Given the description of an element on the screen output the (x, y) to click on. 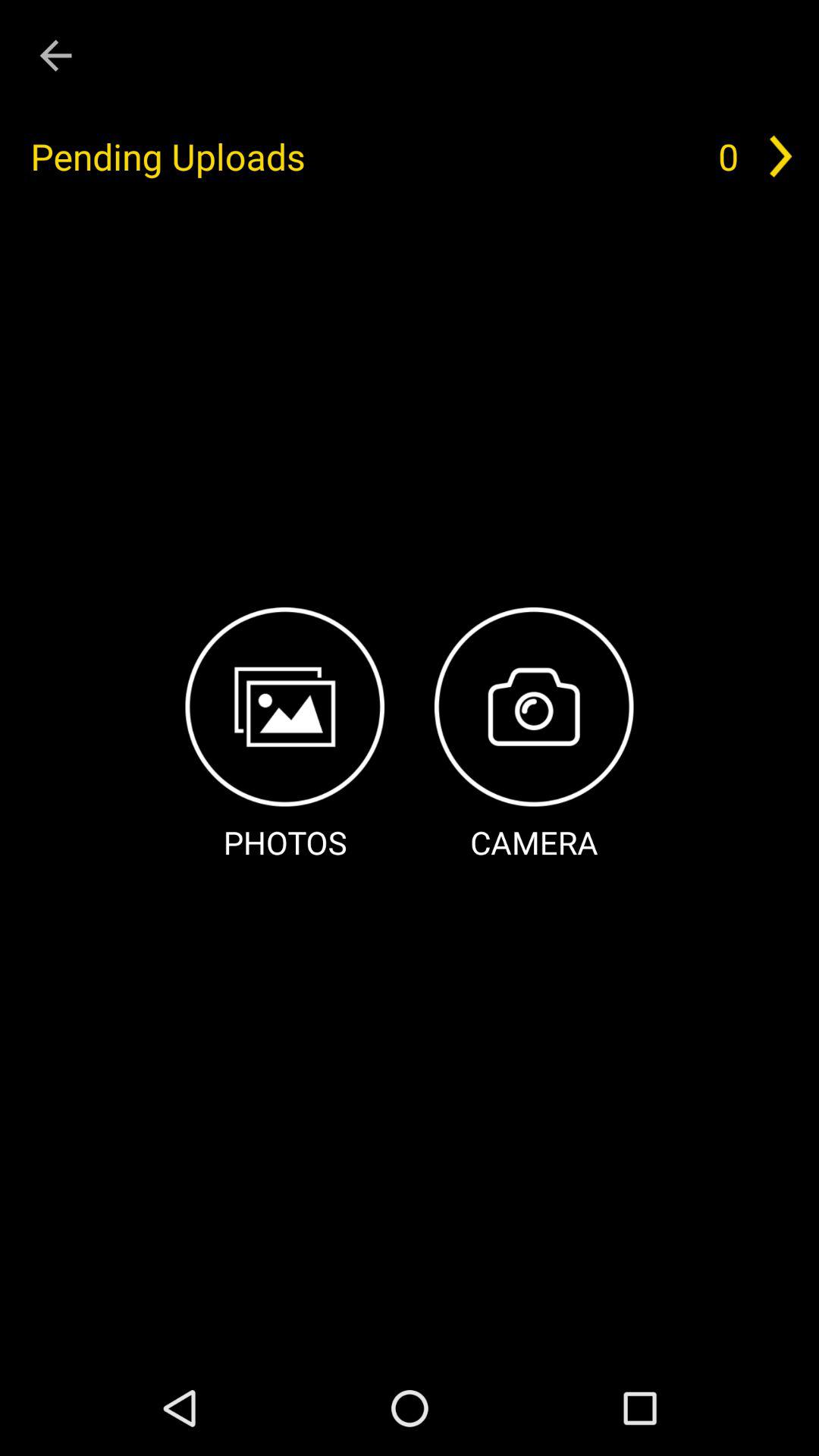
press the item next to the pending uploads item (728, 155)
